Given the description of an element on the screen output the (x, y) to click on. 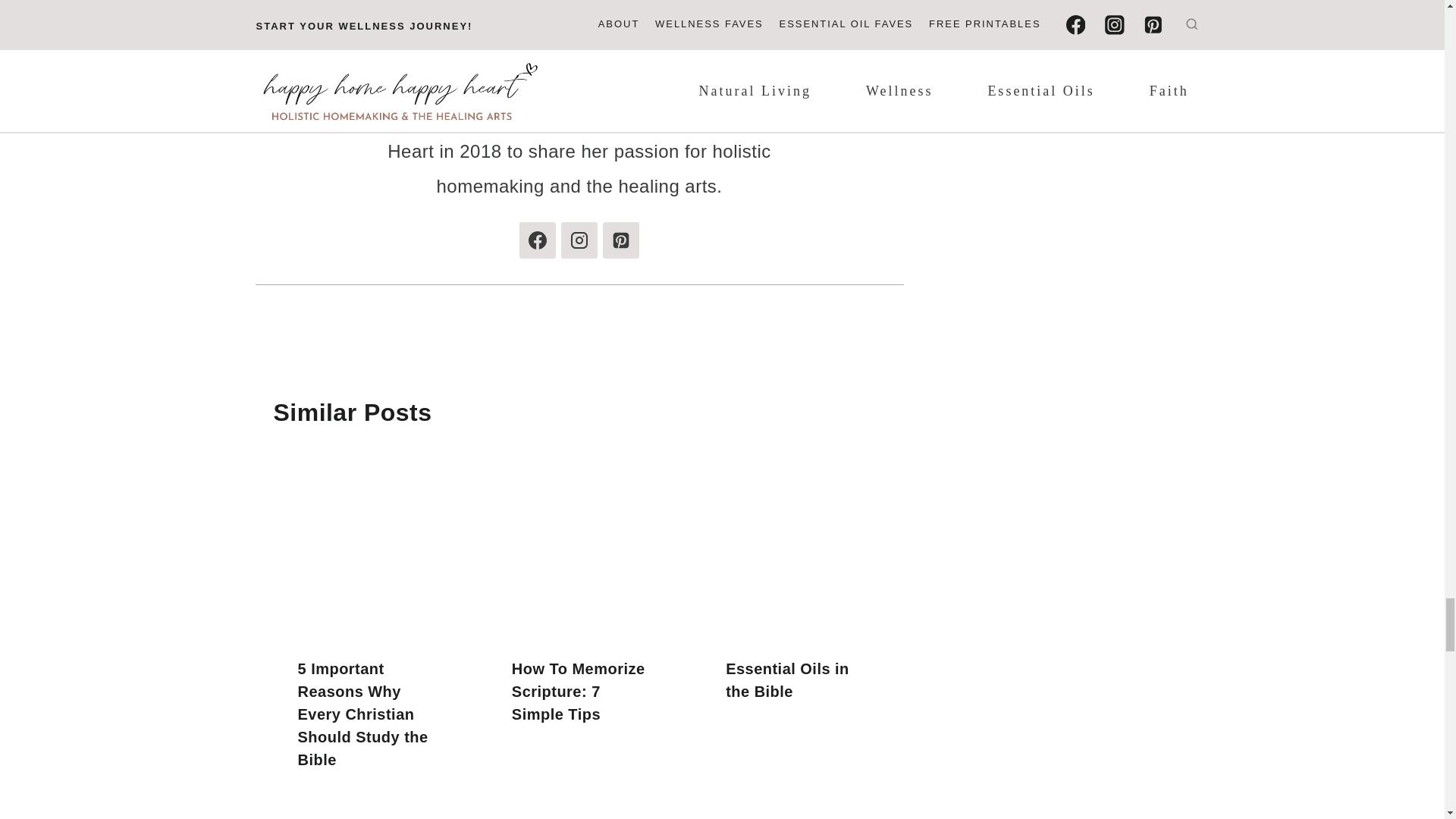
Follow Candice on Pinterest (620, 239)
Follow Candice on Instagram (578, 239)
Follow Candice on Facebook (537, 239)
